Given the description of an element on the screen output the (x, y) to click on. 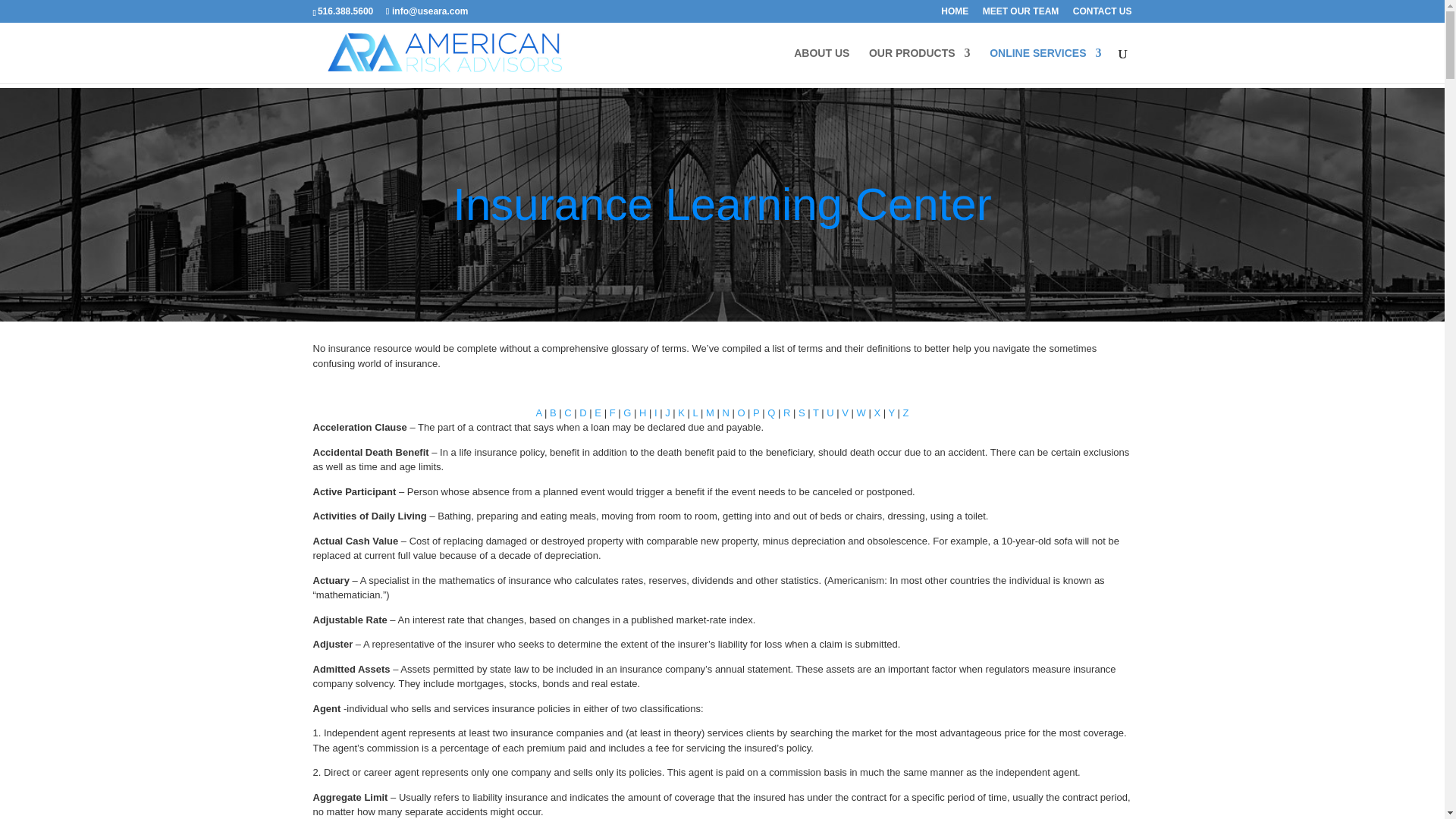
OUR PRODUCTS (920, 65)
CONTACT US (1102, 14)
ONLINE SERVICES (1045, 65)
ABOUT US (820, 65)
MEET OUR TEAM (1020, 14)
HOME (954, 14)
